Given the description of an element on the screen output the (x, y) to click on. 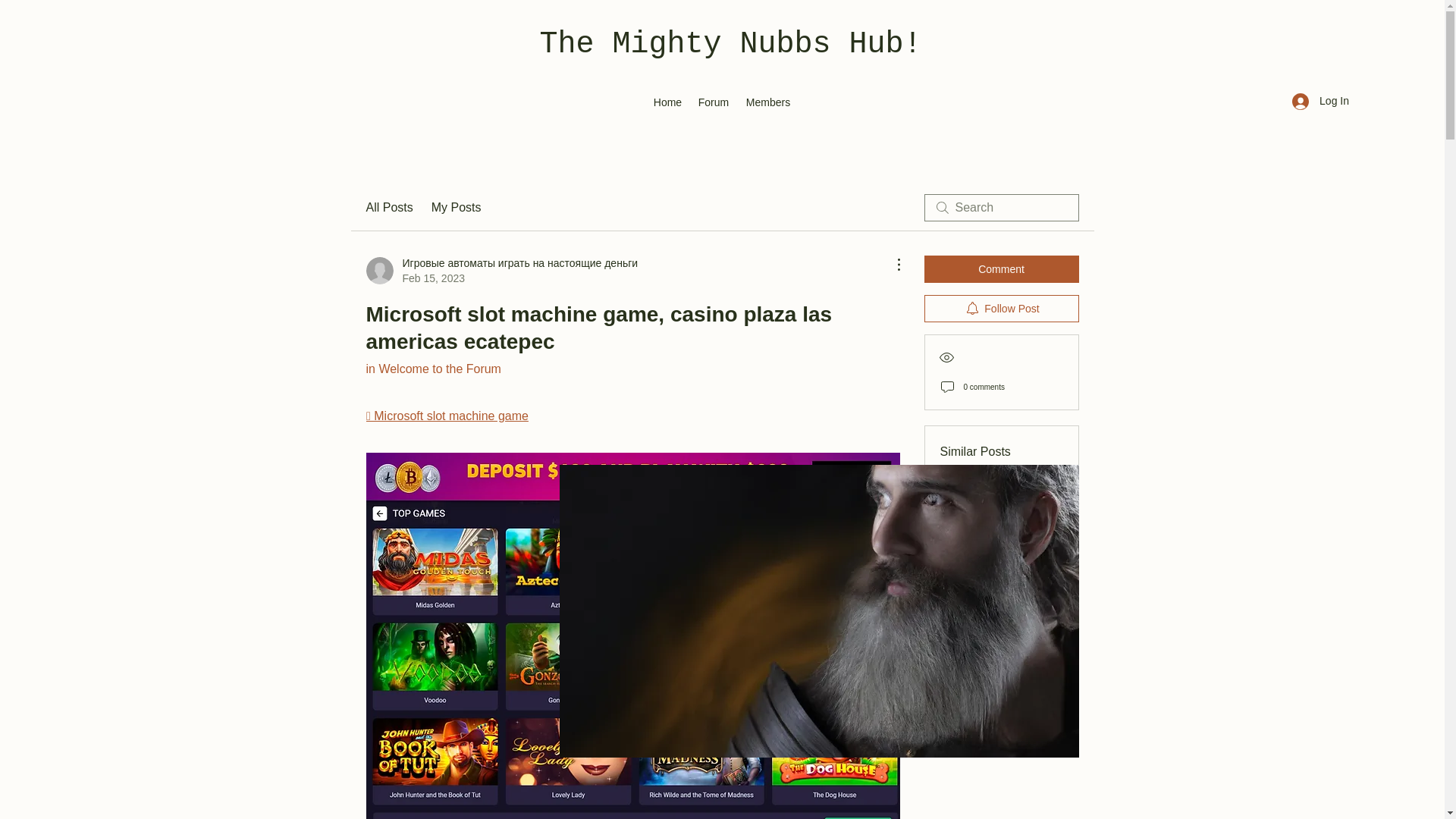
Comment (1000, 268)
Rhinestone 777 slot machine pin, buffalo casino game (999, 550)
Members (767, 101)
All Posts (388, 208)
Log In (1320, 100)
My Posts (455, 208)
Home (667, 101)
in Welcome to the Forum (432, 368)
Follow Post (1000, 308)
